Given the description of an element on the screen output the (x, y) to click on. 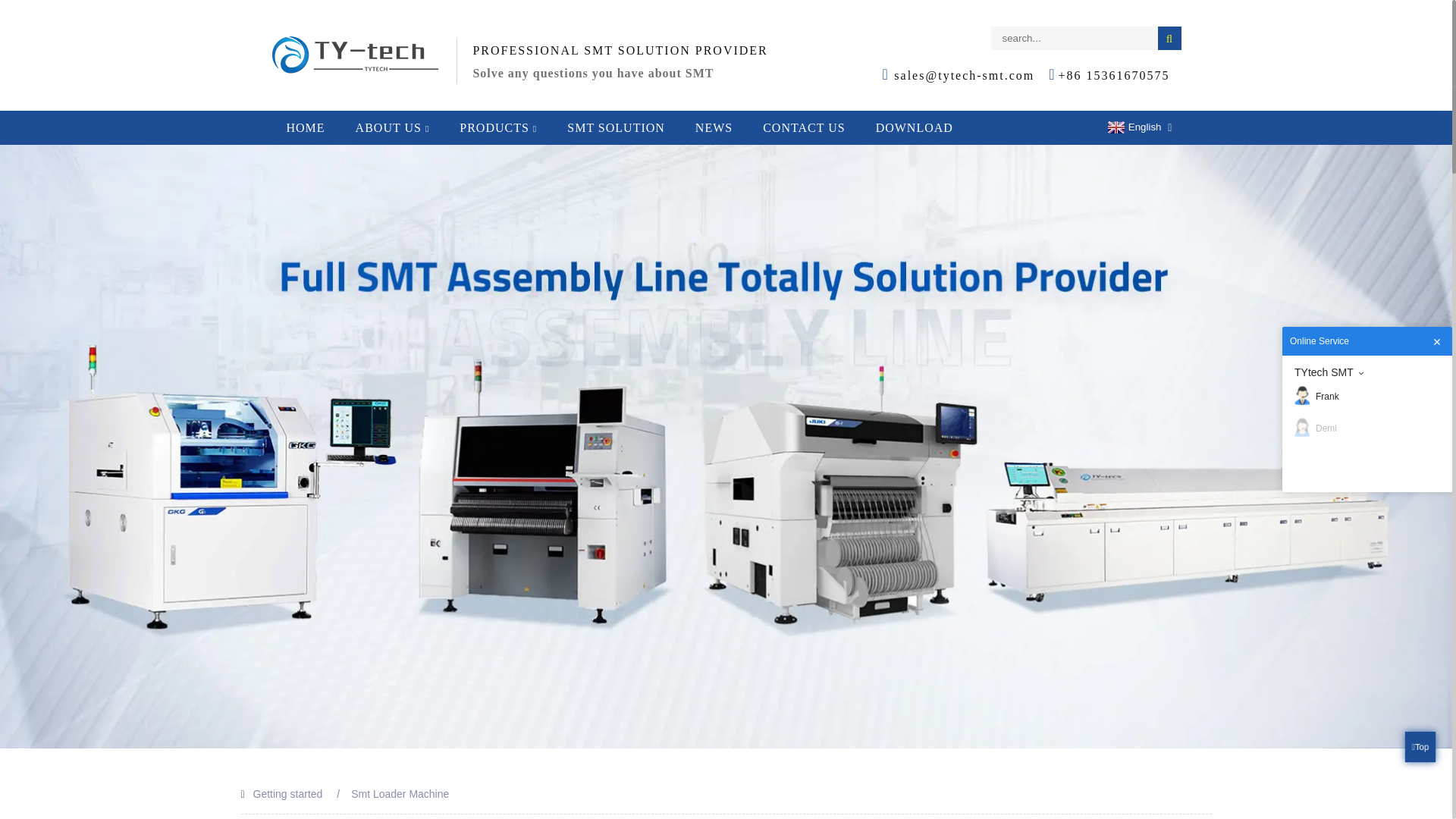
DOWNLOAD (914, 127)
ABOUT US (392, 127)
SMT SOLUTION (615, 127)
PRODUCTS (497, 127)
Getting started (288, 793)
English (1132, 127)
NEWS (713, 127)
Smt Loader Machine (399, 793)
HOME (305, 127)
CONTACT US (804, 127)
